Given the description of an element on the screen output the (x, y) to click on. 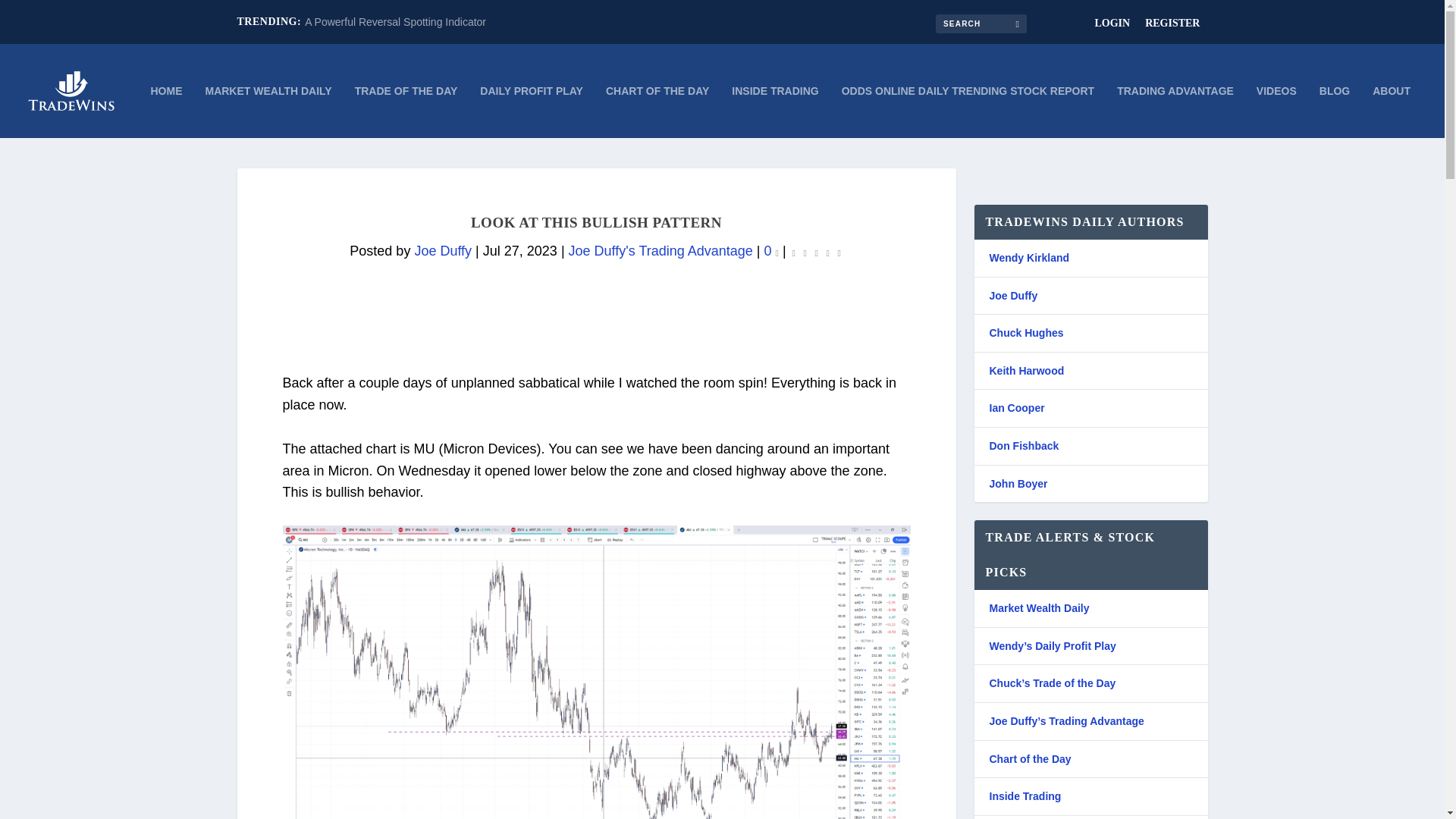
Joe Duffy's Trading Advantage (660, 250)
TRADING ADVANTAGE (1174, 111)
ODDS ONLINE DAILY TRENDING STOCK REPORT (967, 111)
CHART OF THE DAY (657, 111)
Rating: 0.00 (816, 251)
Search for: (981, 22)
TRADE OF THE DAY (406, 111)
Joe Duffy (442, 250)
DAILY PROFIT PLAY (531, 111)
INSIDE TRADING (775, 111)
